Given the description of an element on the screen output the (x, y) to click on. 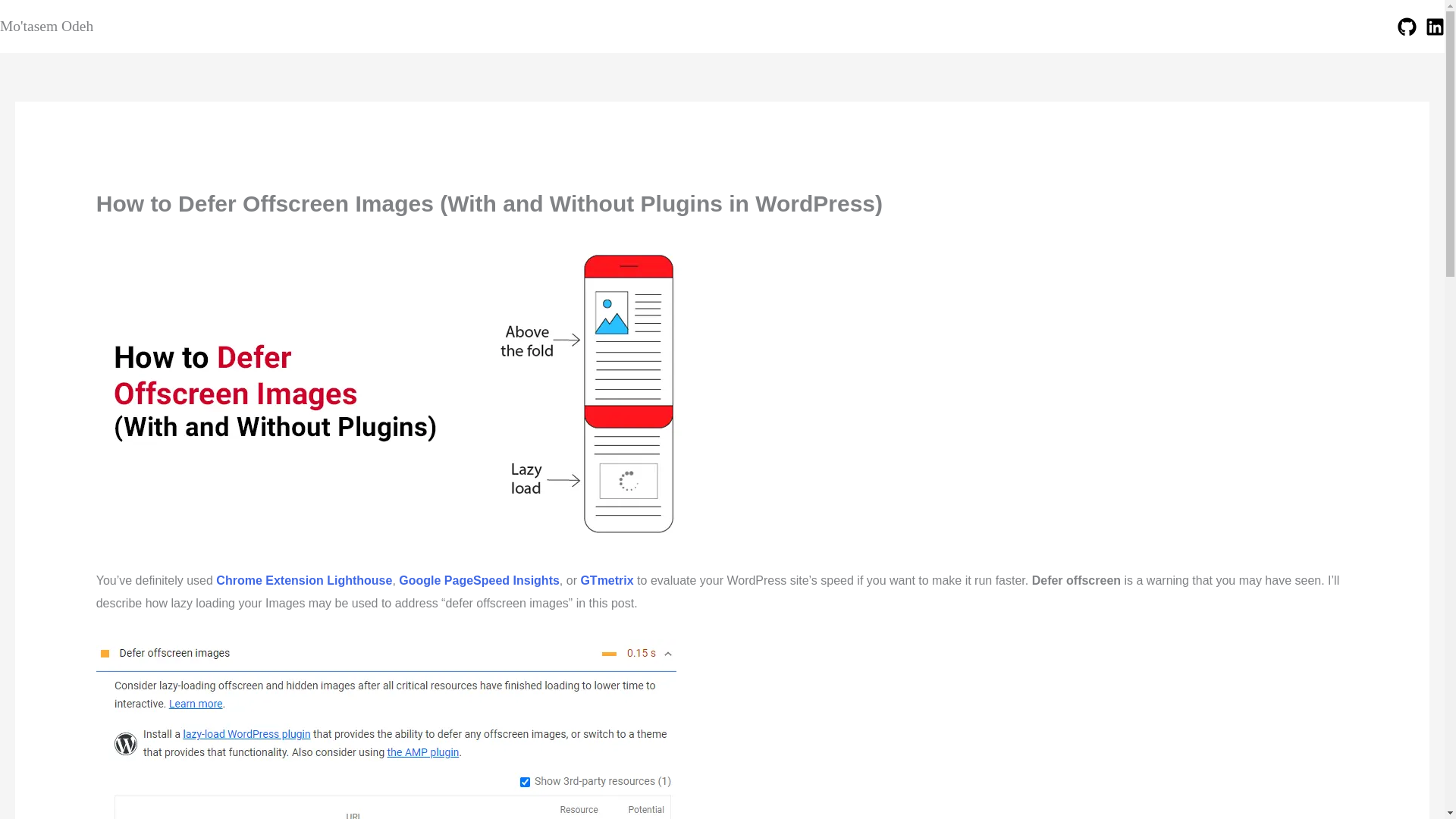
GTmetrix (606, 580)
Google PageSpeed Insights (478, 580)
Chrome Extension Lighthouse (303, 580)
